Given the description of an element on the screen output the (x, y) to click on. 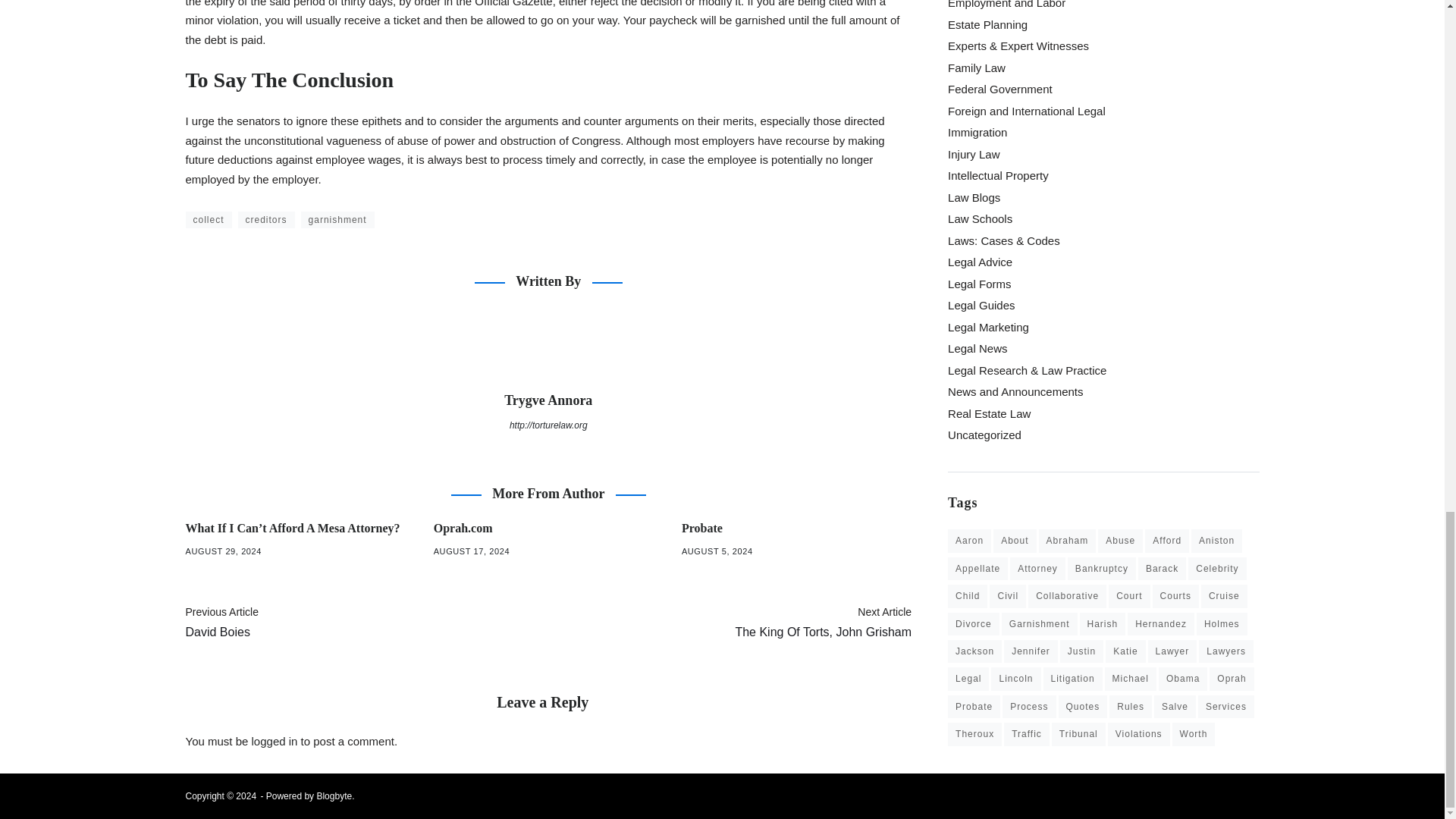
Trygve Annora (547, 387)
creditors (266, 207)
Trygve Annora (548, 335)
collect (207, 207)
Trygve Annora (547, 387)
garnishment (337, 207)
